Given the description of an element on the screen output the (x, y) to click on. 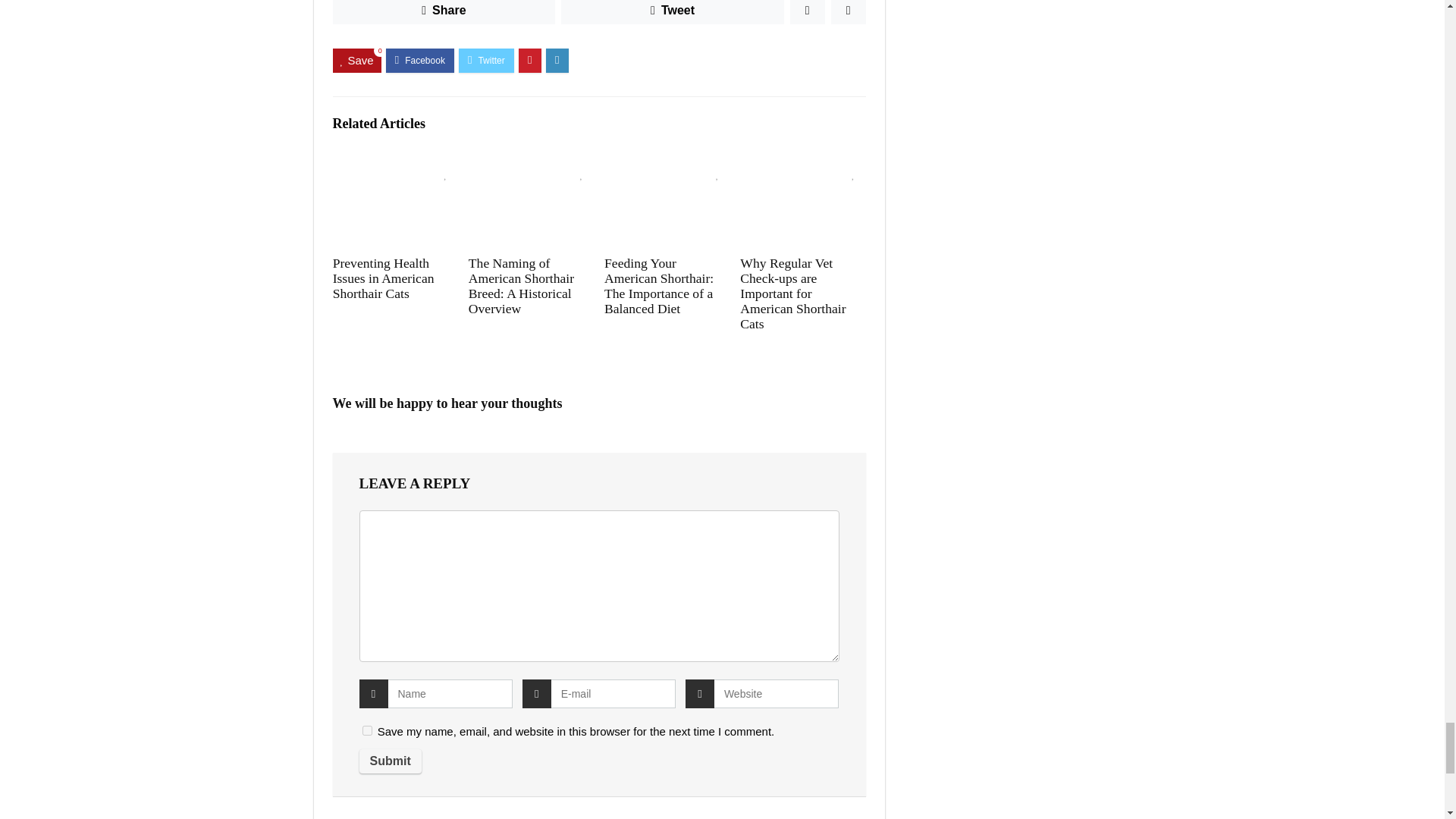
Submit (390, 761)
Share (442, 12)
Tweet (672, 12)
yes (367, 730)
